Given the description of an element on the screen output the (x, y) to click on. 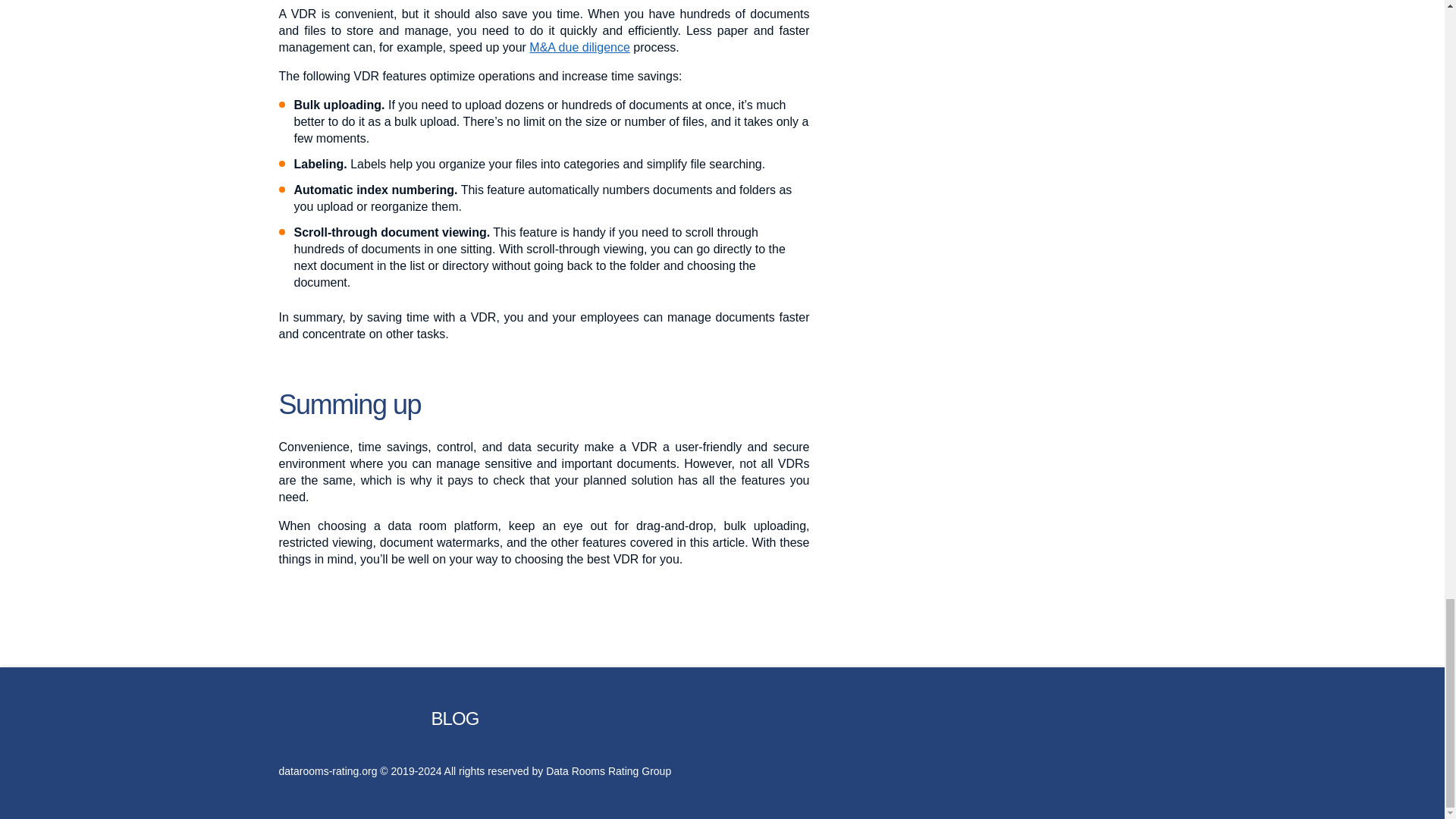
BLOG (454, 718)
